Given the description of an element on the screen output the (x, y) to click on. 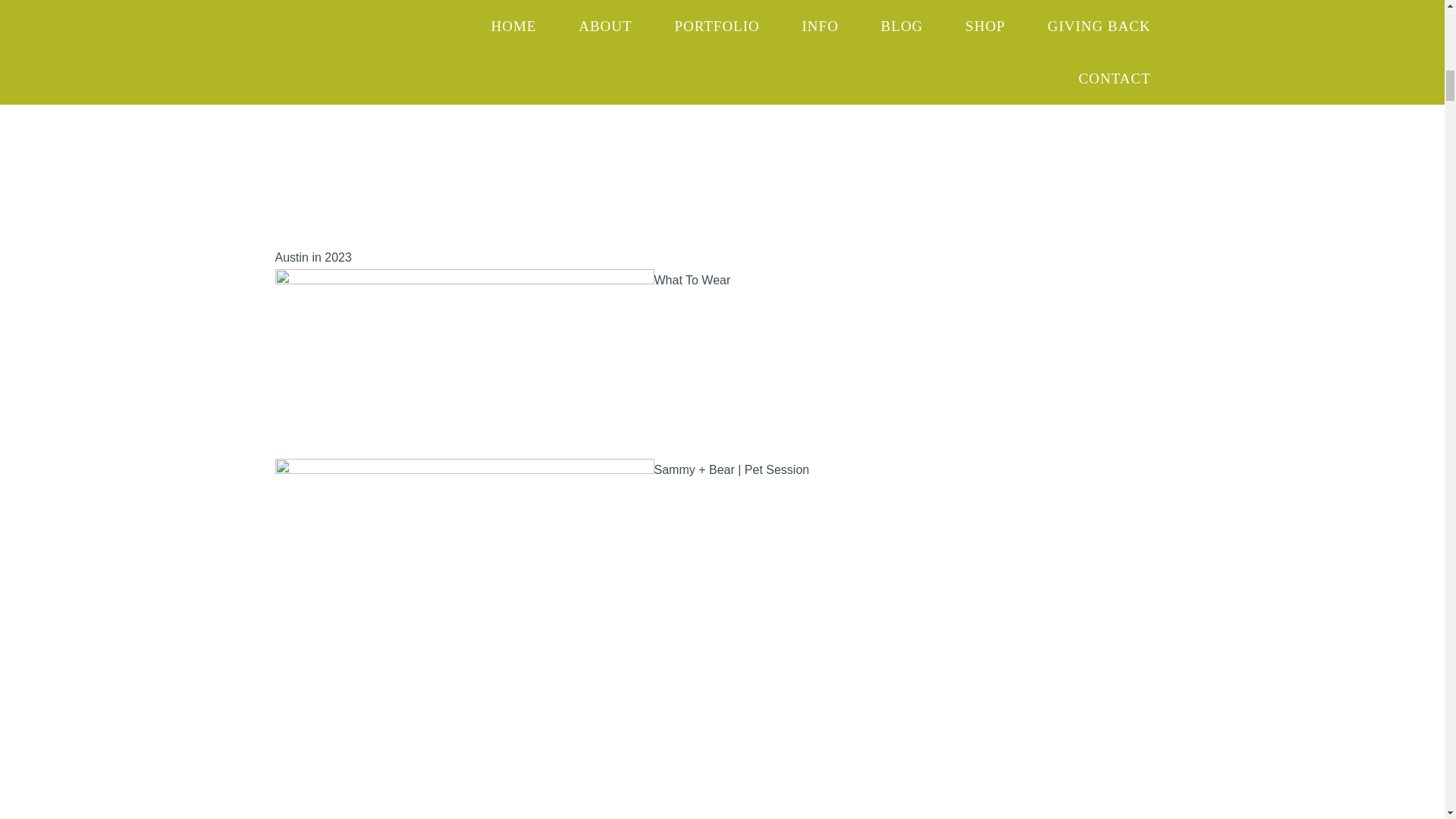
What To Wear (691, 279)
Permanent Link to What To Wear (464, 279)
Permanent Link to What To Wear (691, 279)
